Given the description of an element on the screen output the (x, y) to click on. 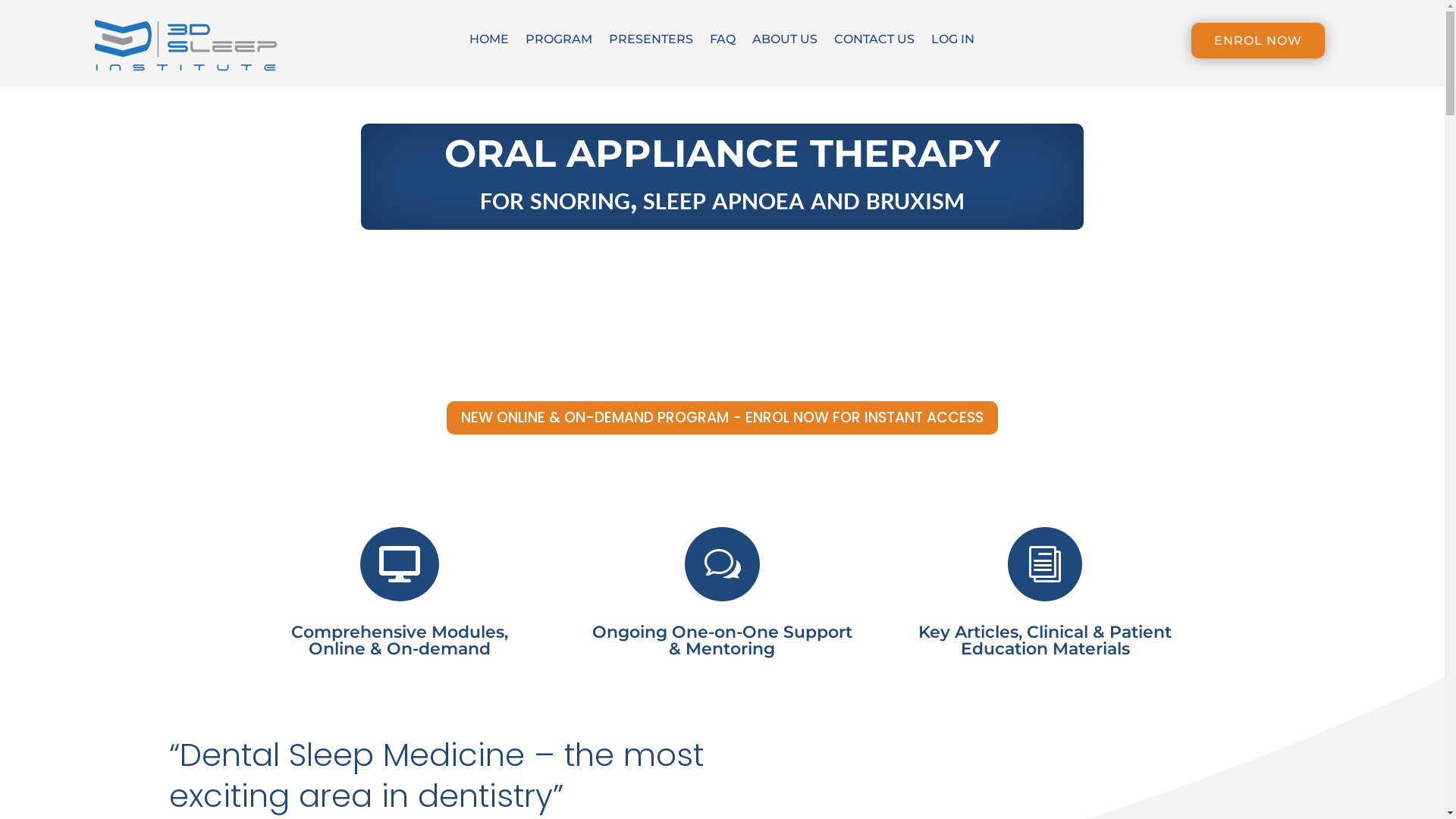
HOME Element type: text (488, 42)
ABOUT US Element type: text (784, 42)
FAQ Element type: text (722, 42)
PRESENTERS Element type: text (650, 42)
CONTACT US Element type: text (874, 42)
PROGRAM Element type: text (558, 42)
3D-Sleep-Institute-Logo Element type: hover (186, 46)
LOG IN Element type: text (952, 42)
ENROL NOW Element type: text (1257, 40)
